Given the description of an element on the screen output the (x, y) to click on. 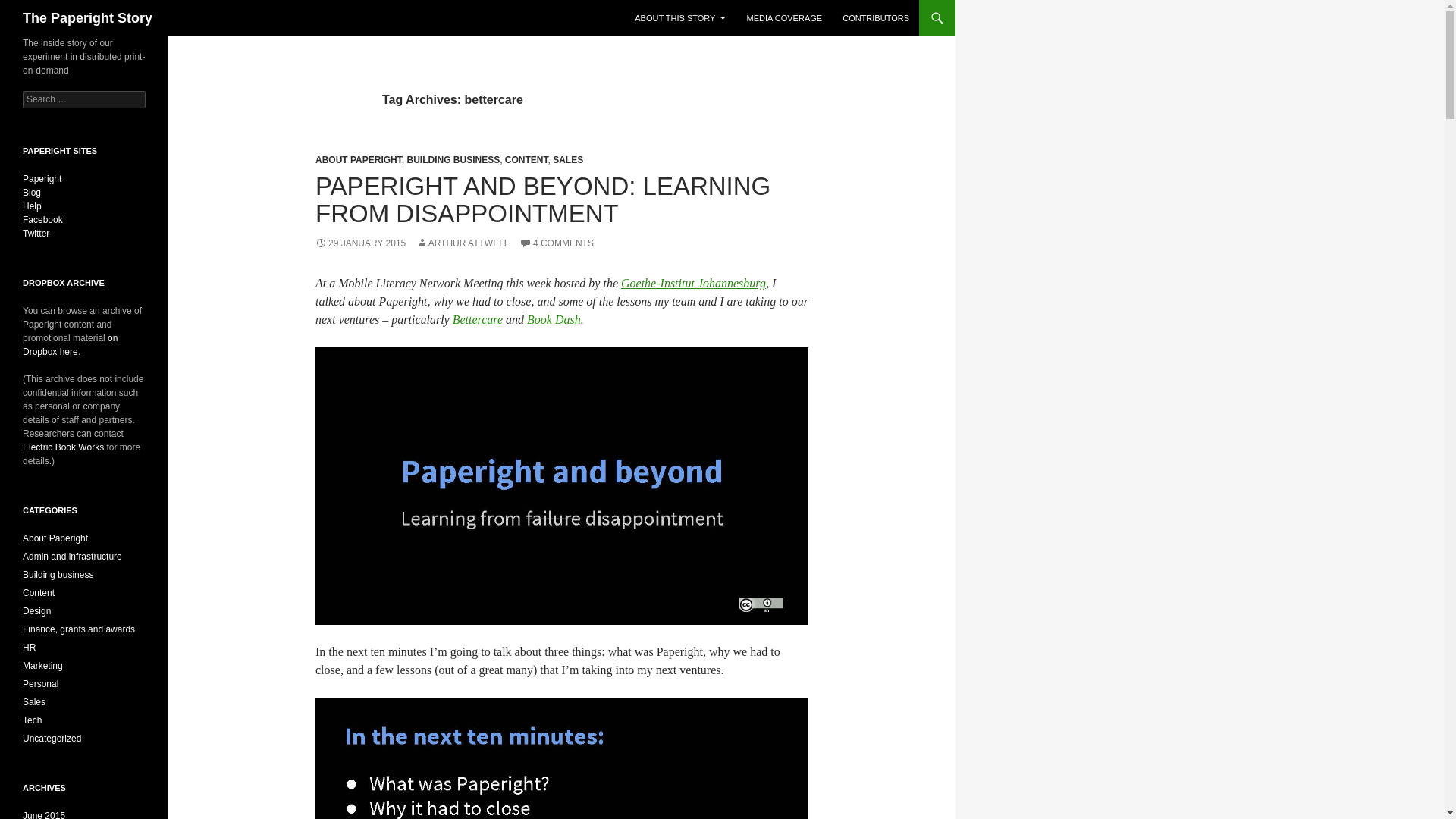
ABOUT PAPERIGHT (358, 159)
PAPERIGHT AND BEYOND: LEARNING FROM DISAPPOINTMENT (542, 199)
SALES (568, 159)
Book Dash (553, 318)
BUILDING BUSINESS (452, 159)
Bettercare (477, 318)
The Paperight Story (87, 18)
ABOUT THIS STORY (680, 18)
29 JANUARY 2015 (360, 243)
4 COMMENTS (556, 243)
CONTENT (526, 159)
ARTHUR ATTWELL (462, 243)
MEDIA COVERAGE (783, 18)
CONTRIBUTORS (875, 18)
Goethe-Institut Johannesburg (693, 282)
